Given the description of an element on the screen output the (x, y) to click on. 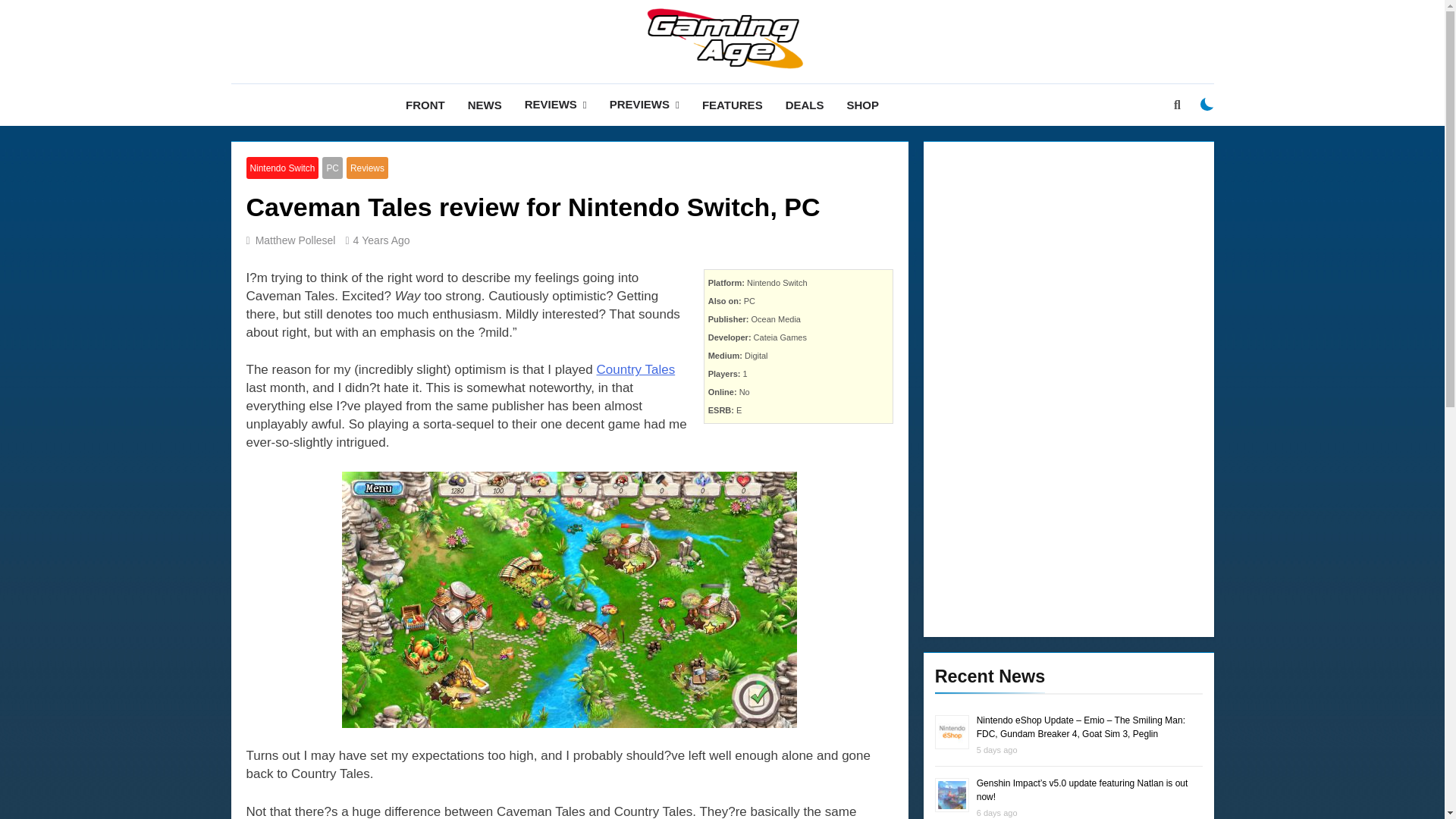
on (1206, 104)
FRONT (425, 105)
PREVIEWS (644, 105)
FEATURES (732, 105)
Gaming Age (571, 92)
SHOP (861, 105)
DEALS (804, 105)
REVIEWS (555, 105)
NEWS (485, 105)
